Given the description of an element on the screen output the (x, y) to click on. 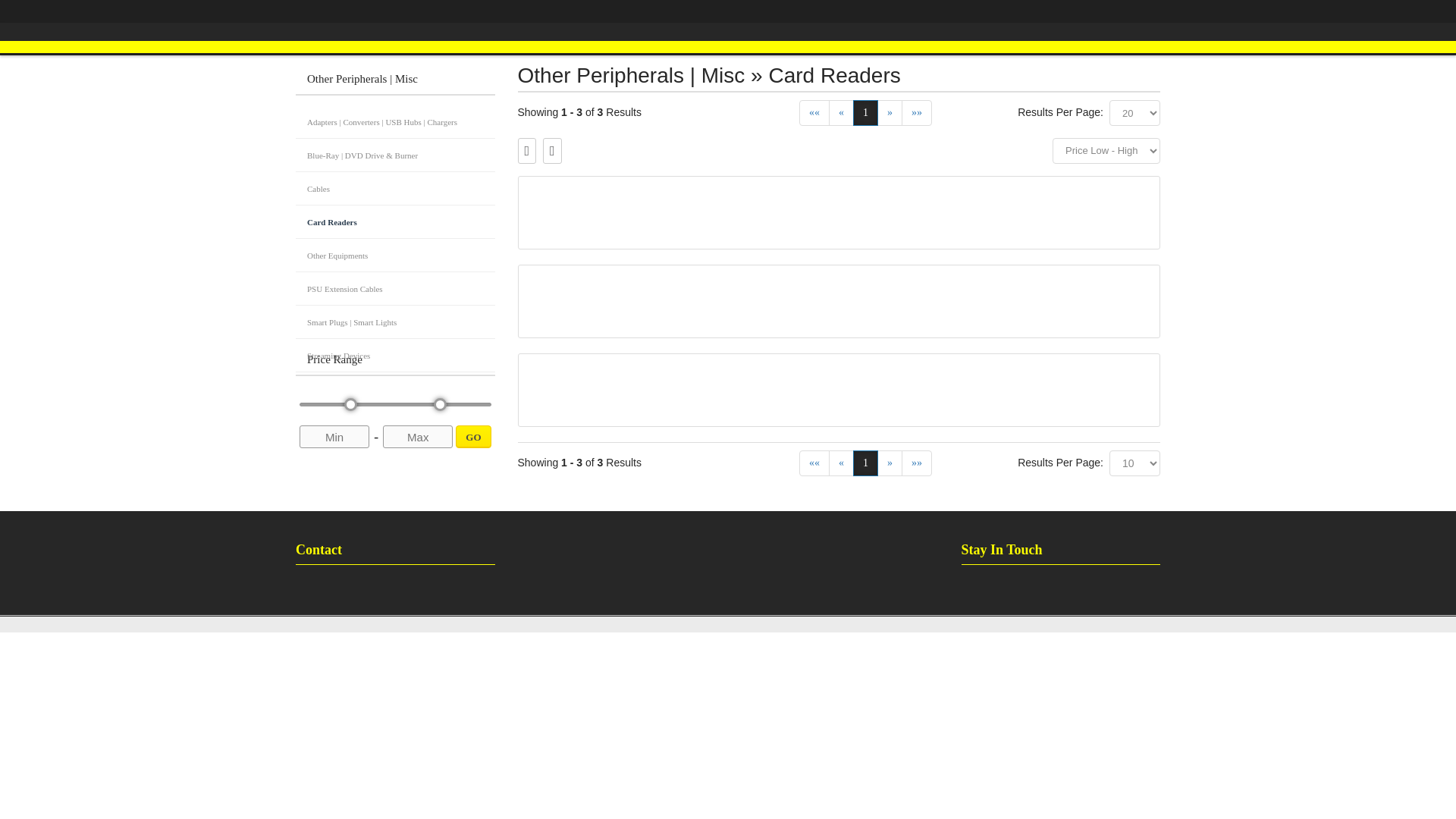
First Page (814, 462)
First Page (814, 112)
2500 (395, 404)
Last Page (916, 112)
Last Page (395, 414)
7500 (916, 462)
